Given the description of an element on the screen output the (x, y) to click on. 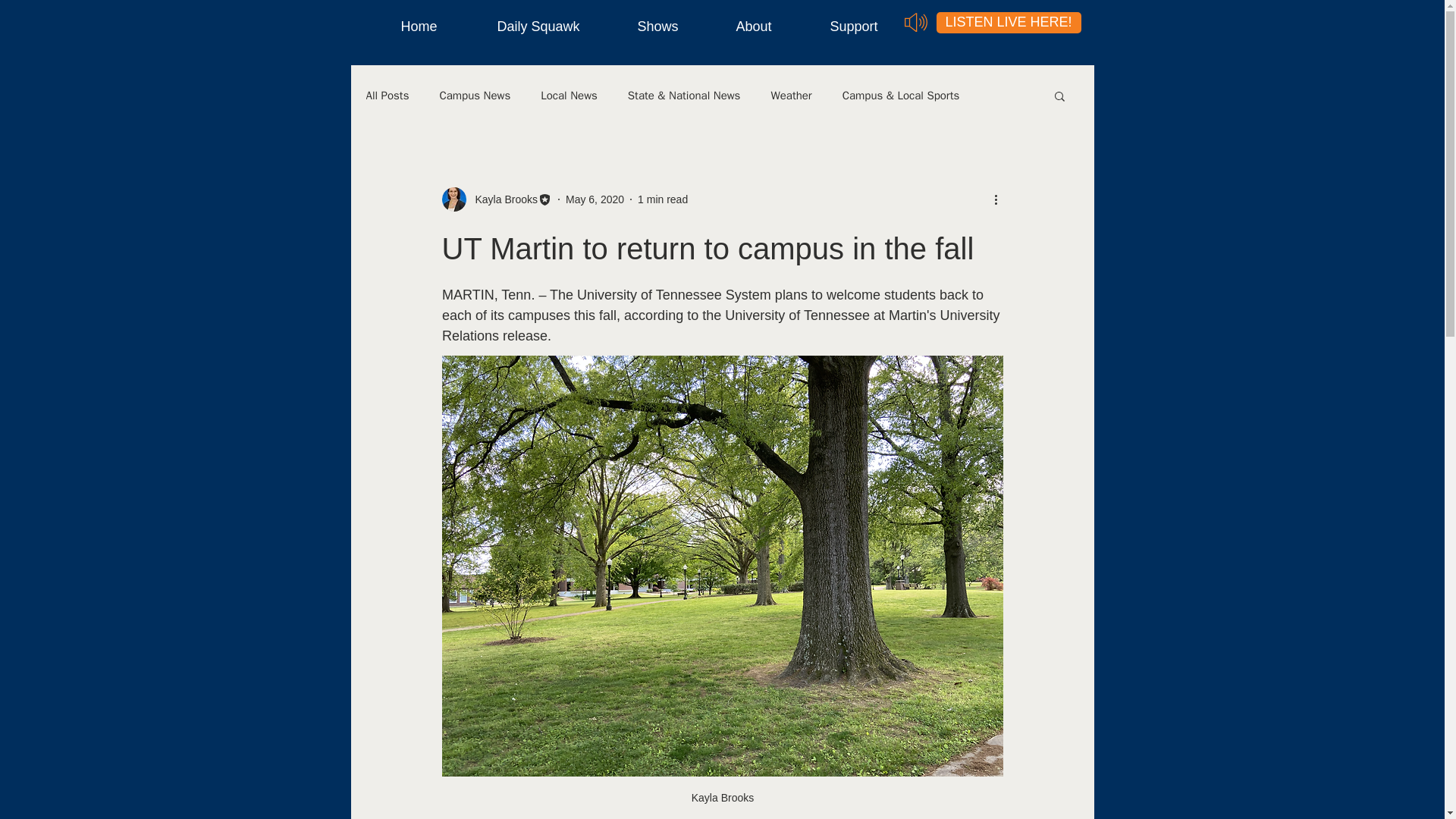
1 min read (662, 198)
Shows (645, 26)
Daily Squawk (525, 26)
Home (408, 26)
About (742, 26)
Support (842, 26)
Local News (568, 94)
May 6, 2020 (595, 198)
LISTEN LIVE HERE! (1008, 22)
Weather (790, 94)
Kayla Brooks (501, 198)
All Posts (387, 94)
Campus News (475, 94)
Kayla Brooks (496, 199)
